Given the description of an element on the screen output the (x, y) to click on. 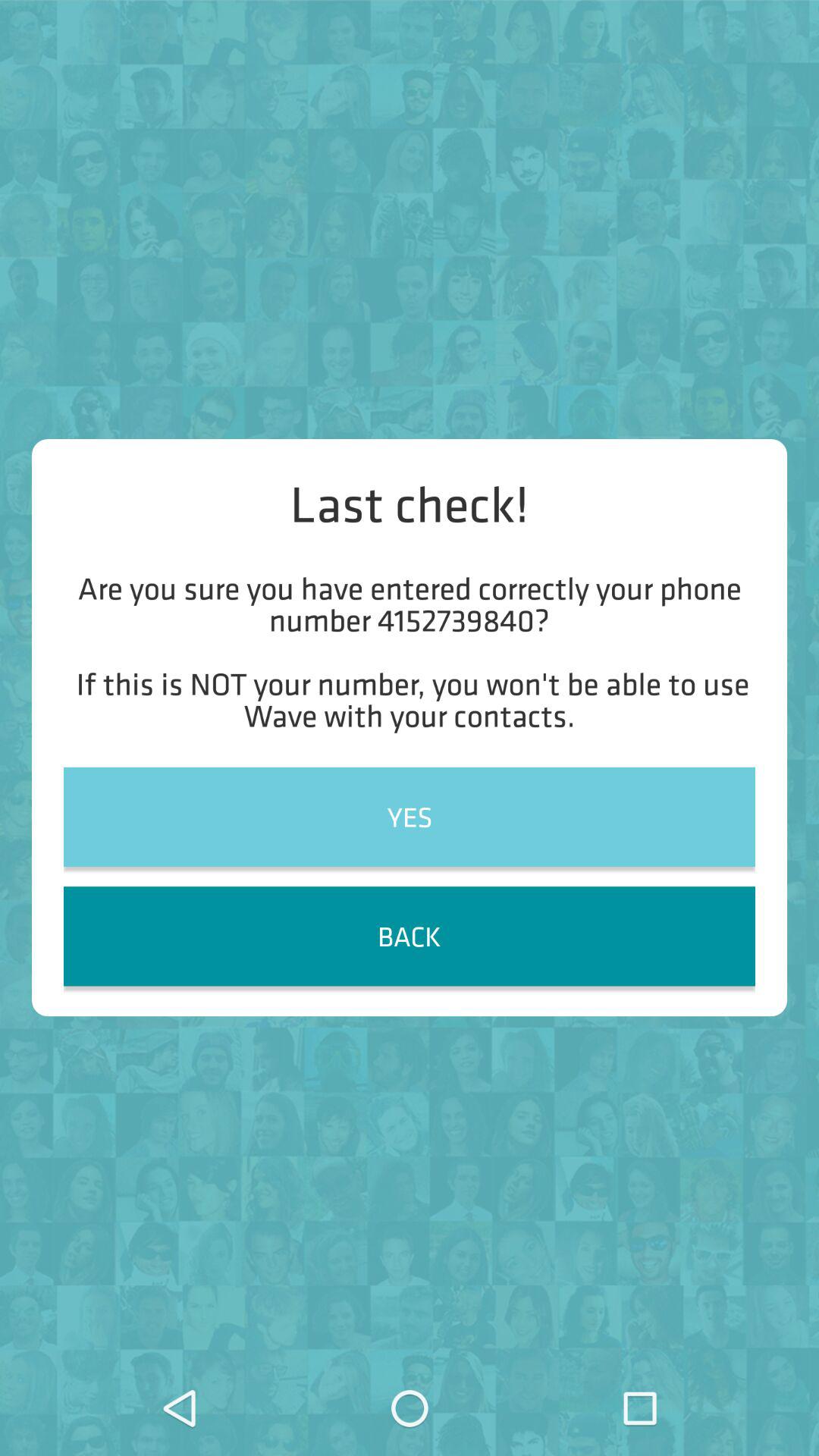
launch the are you sure icon (409, 651)
